Given the description of an element on the screen output the (x, y) to click on. 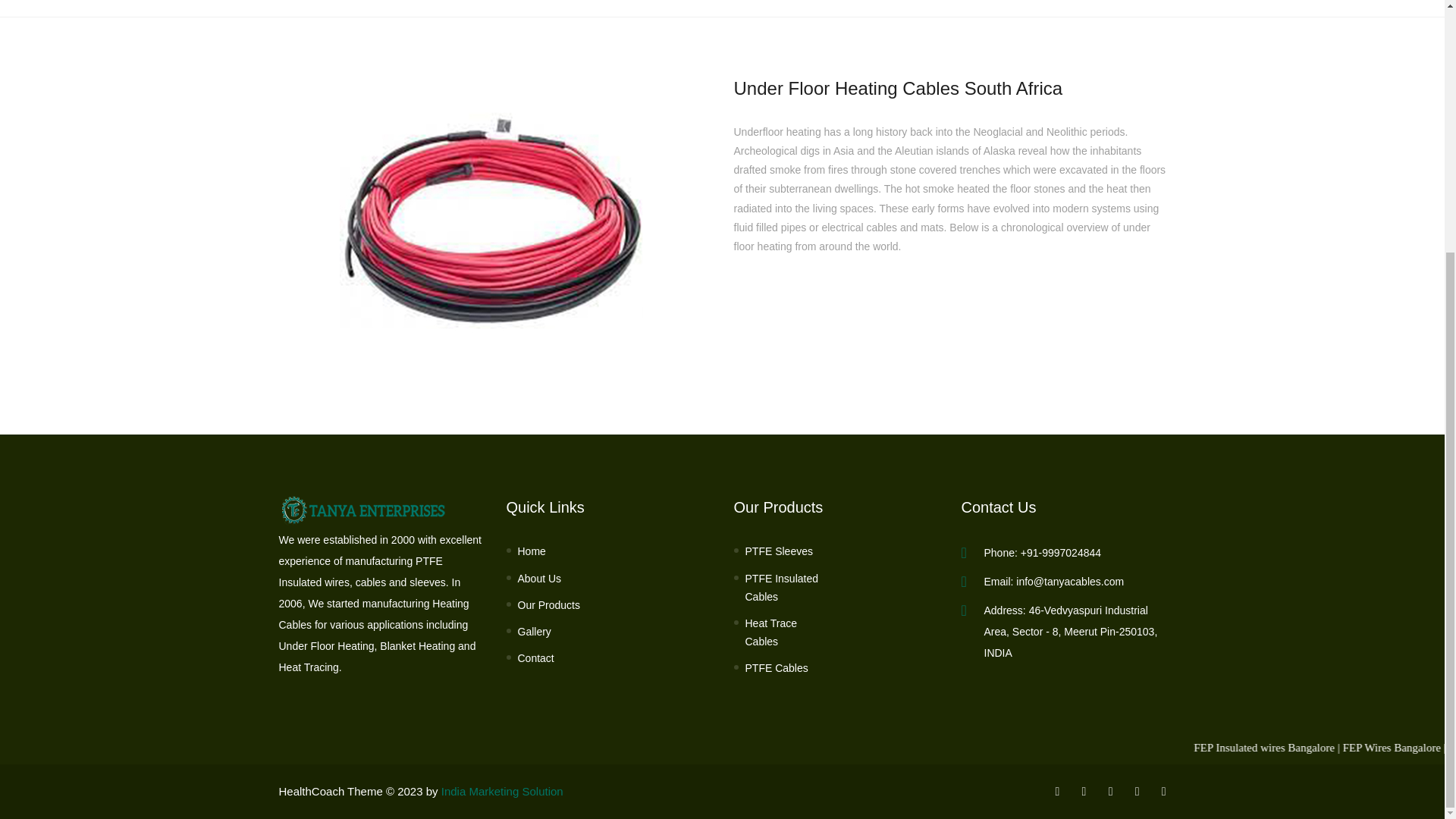
Home (530, 551)
Our Products (547, 605)
About Us (538, 578)
Contact (534, 658)
PTFE Insulated Cables (784, 587)
Heat Trace Cables (784, 632)
PTFE Sleeves (778, 551)
Gallery (533, 631)
PTFE Cables (776, 668)
